Given the description of an element on the screen output the (x, y) to click on. 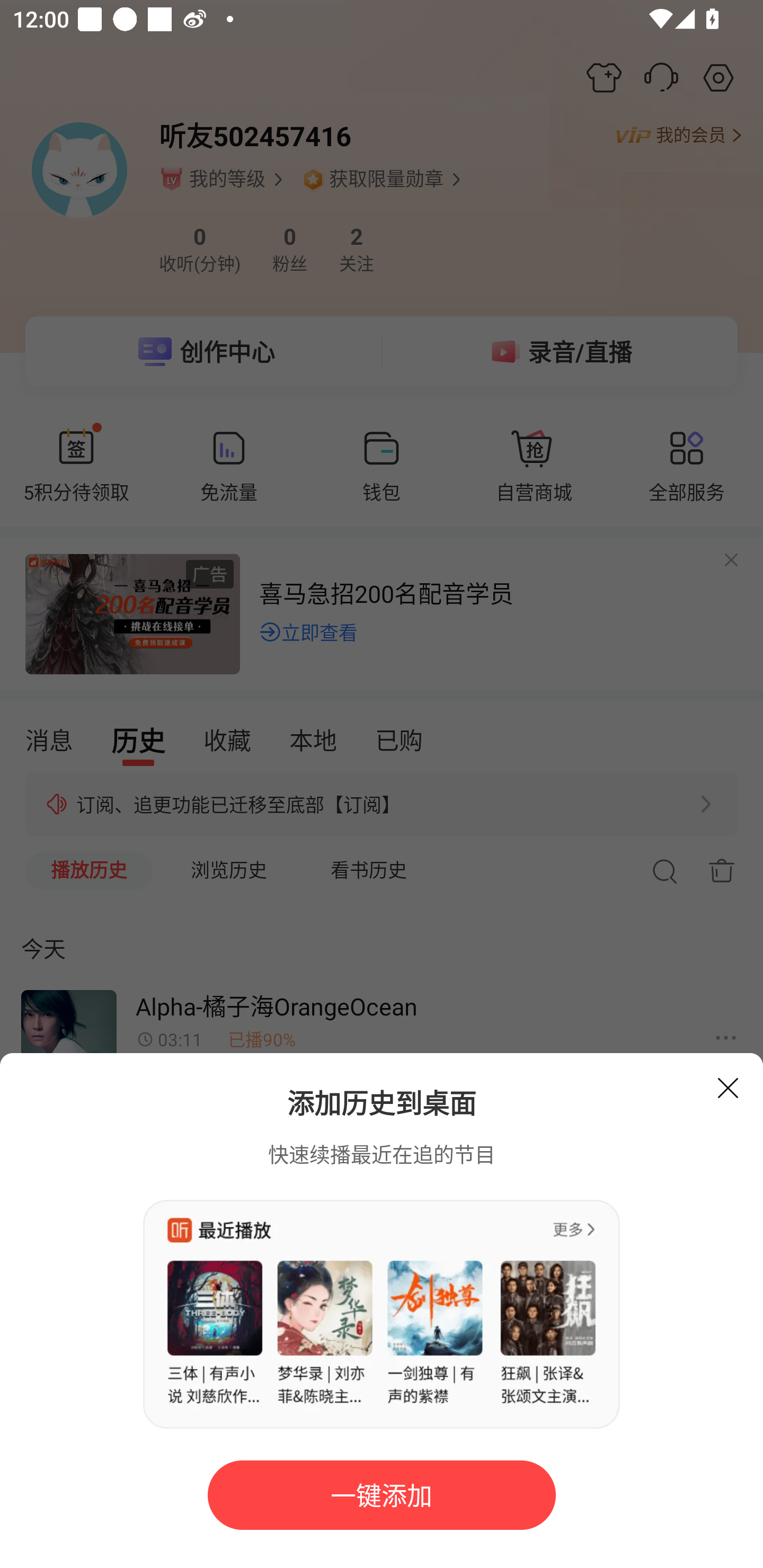
添加历史到桌面 快速续播最近在追的节目 一键添加 (381, 1310)
一键添加 (381, 1494)
